Given the description of an element on the screen output the (x, y) to click on. 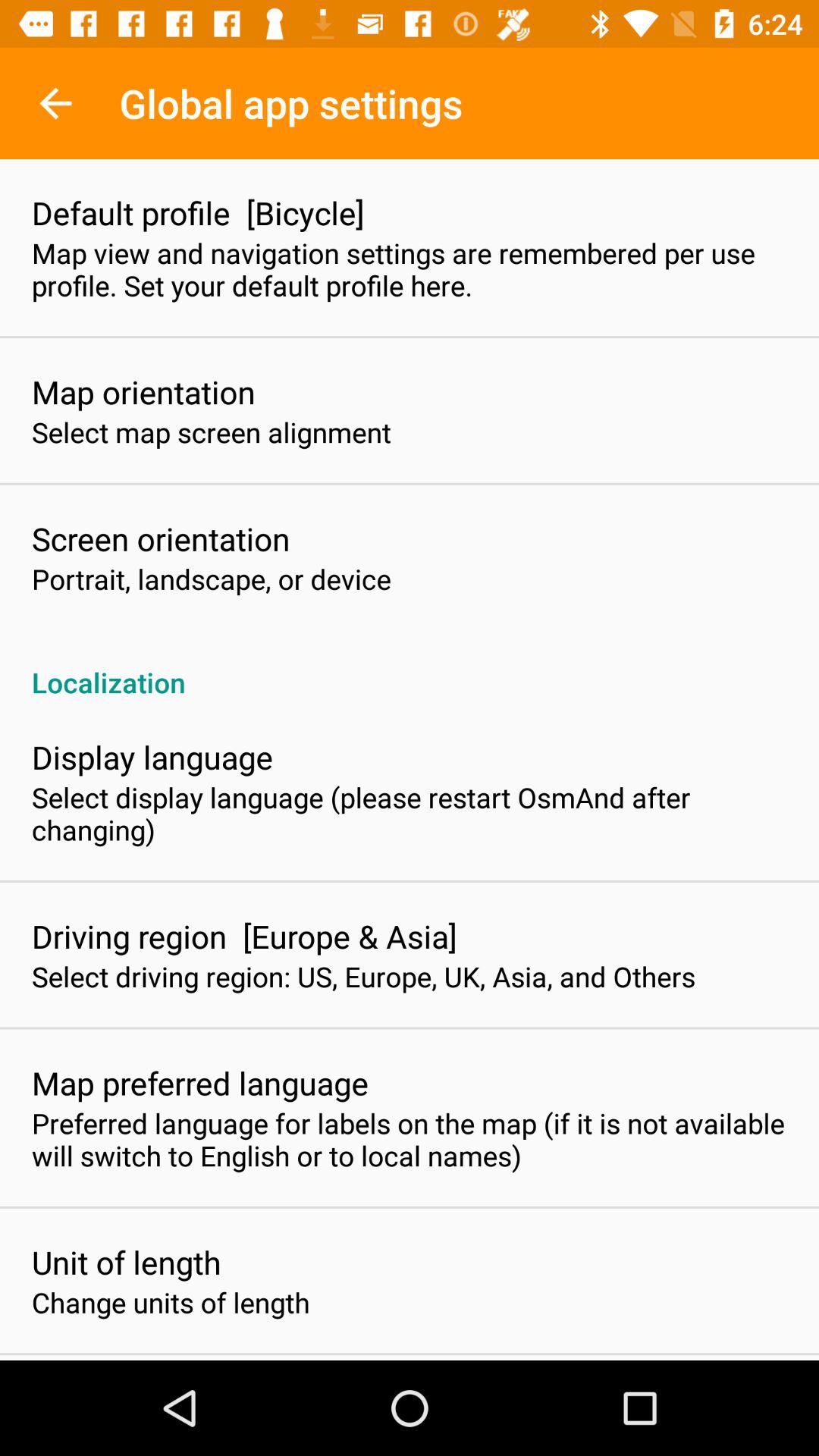
click the item above default profile  [bicycle] (55, 103)
